Given the description of an element on the screen output the (x, y) to click on. 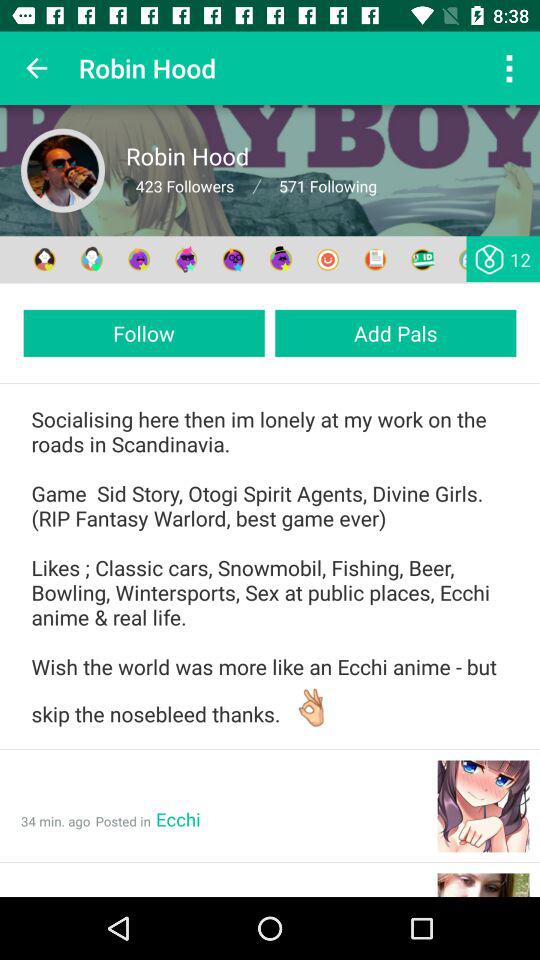
turn on icon next to robin hood icon (36, 68)
